Given the description of an element on the screen output the (x, y) to click on. 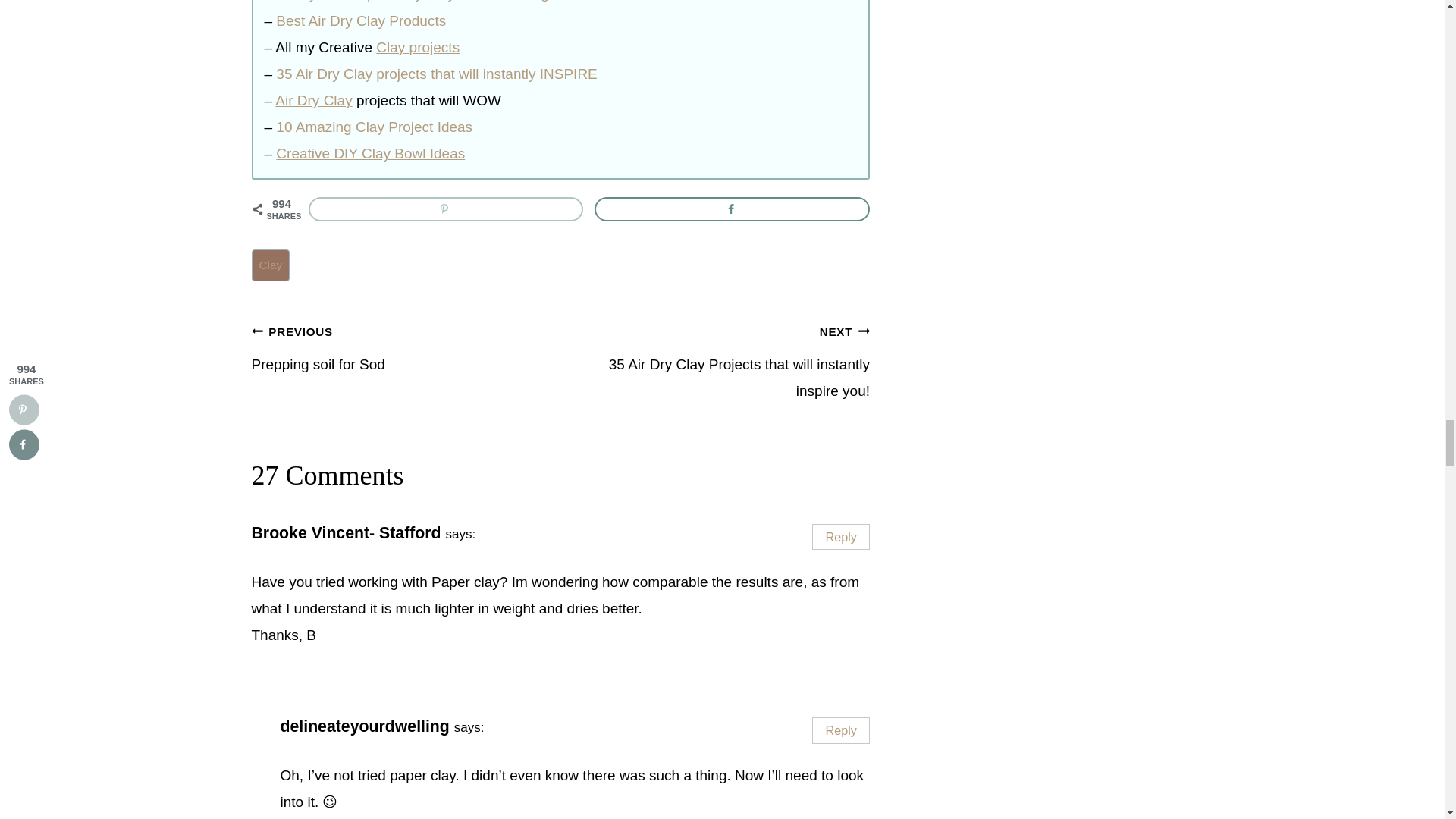
Save to Pinterest (445, 209)
Share on Facebook (731, 209)
Clay (270, 265)
